Given the description of an element on the screen output the (x, y) to click on. 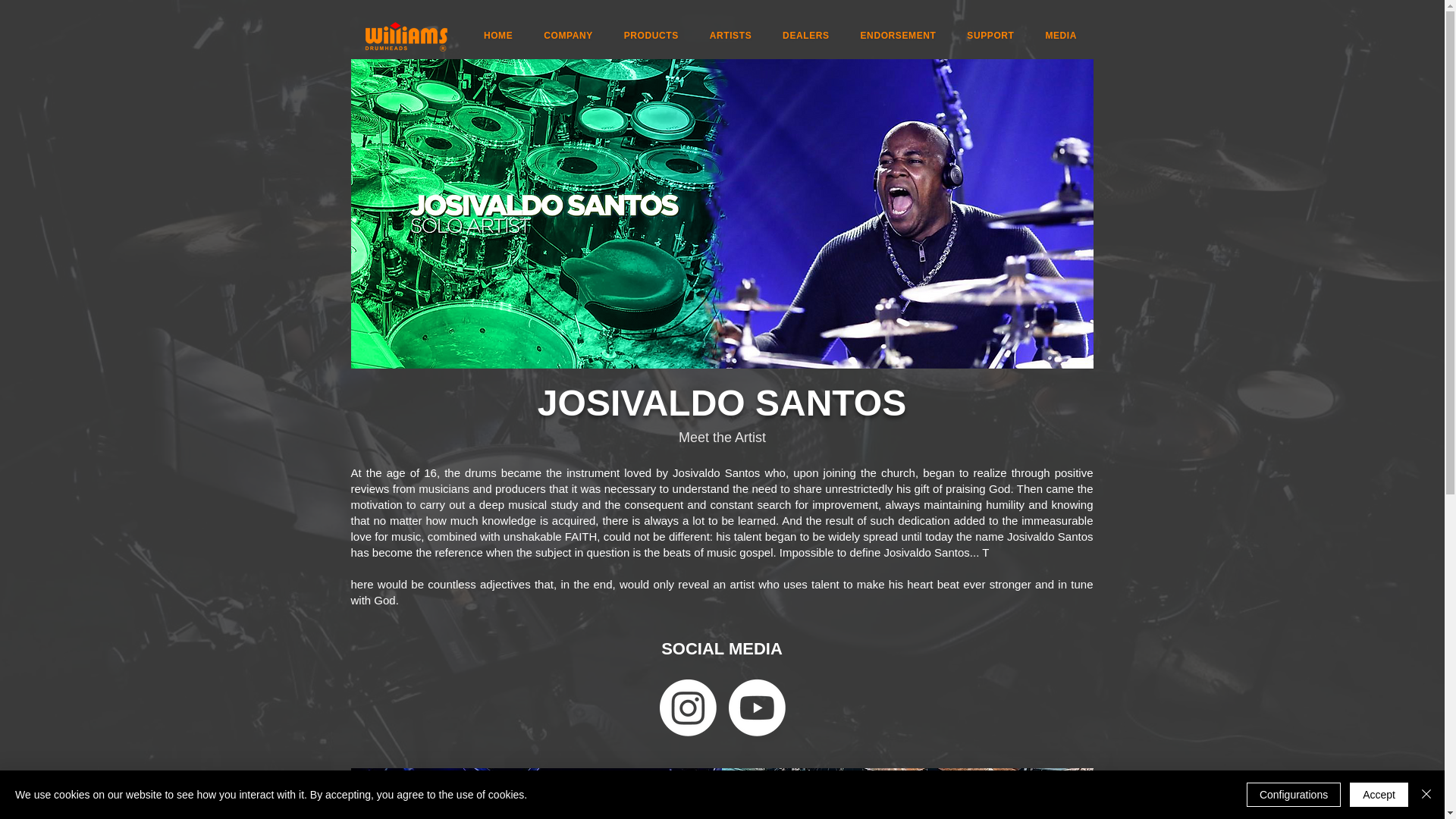
PRODUCTS (651, 35)
COMPANY (568, 35)
HOME (498, 35)
